Given the description of an element on the screen output the (x, y) to click on. 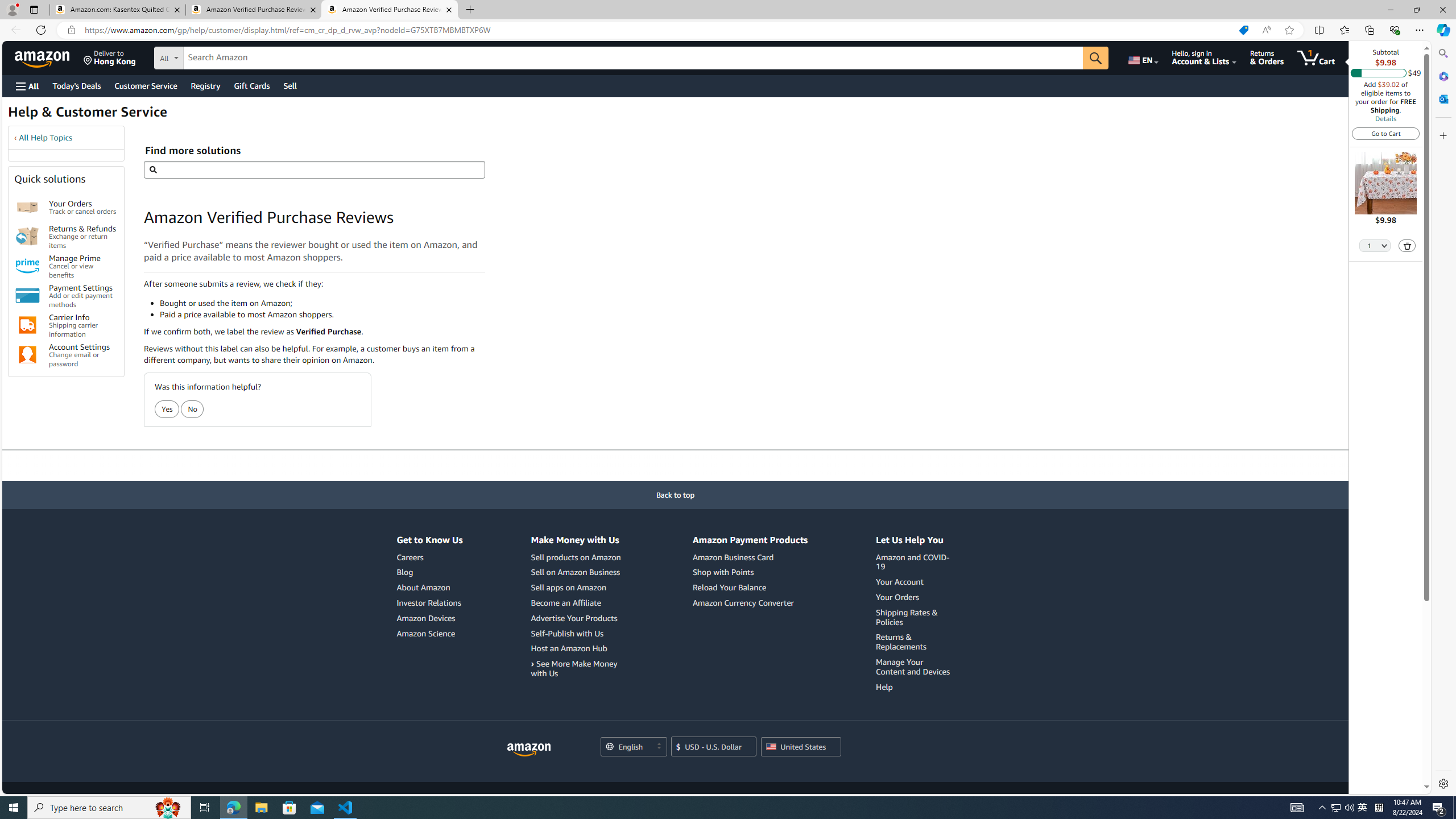
Investor Relations (428, 602)
Become an Affiliate (565, 602)
Become an Affiliate (576, 602)
Amazon Devices (429, 618)
Sell apps on Amazon (576, 587)
Sell on Amazon Business (574, 572)
Yes (167, 408)
About Amazon (429, 587)
Self-Publish with Us (576, 633)
App bar (728, 29)
Shop with Points (722, 572)
Open Menu (26, 86)
Outlook (1442, 98)
Amazon and COVID-19 (914, 562)
